Given the description of an element on the screen output the (x, y) to click on. 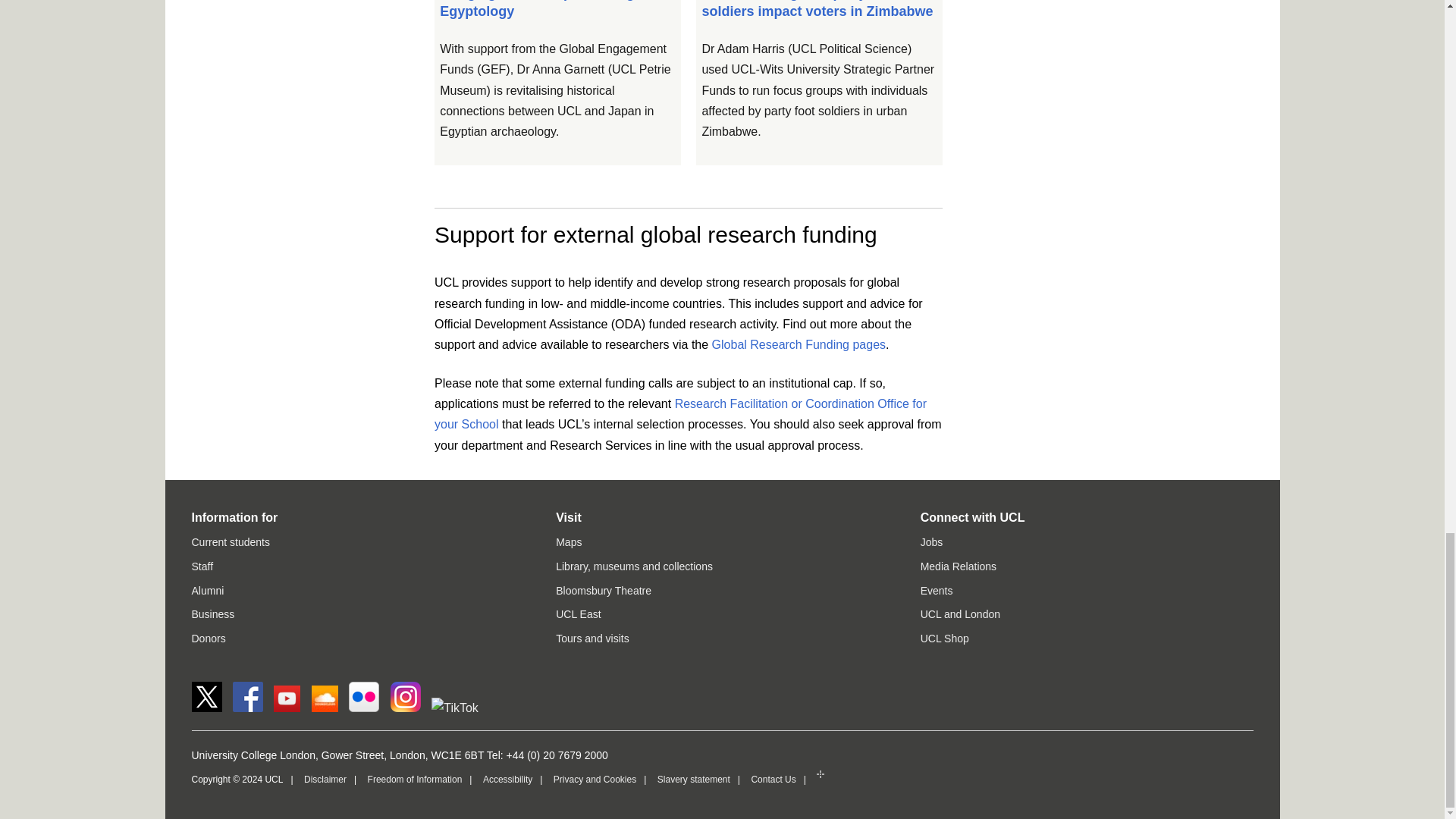
Research Facilitation or Coordination Office for your School (679, 413)
Global Research Funding pages (798, 344)
Bringing UCL to Japan through Egyptology (541, 9)
